Given the description of an element on the screen output the (x, y) to click on. 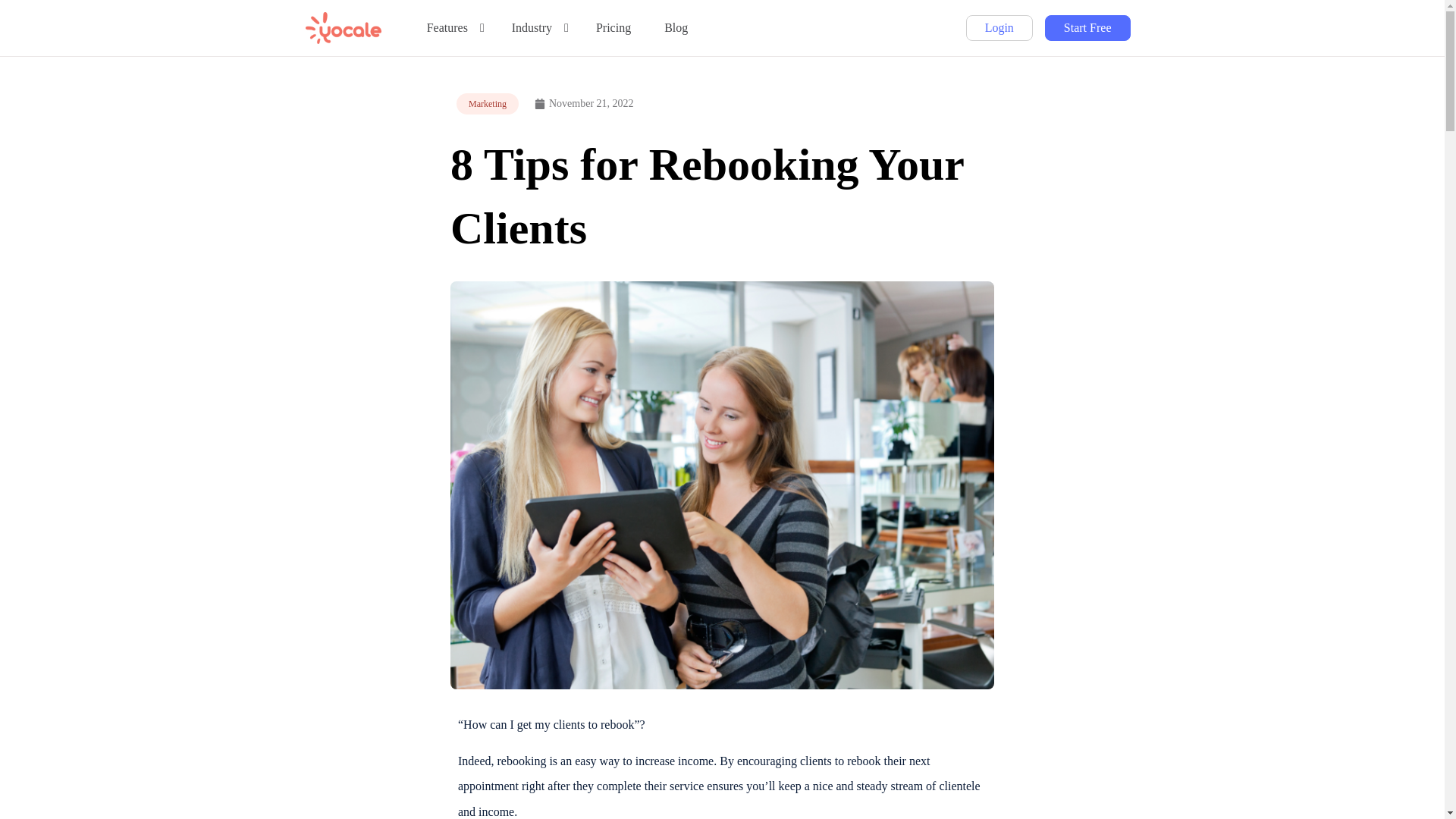
Pricing (613, 28)
Blog (675, 28)
Industry (545, 28)
Features (461, 28)
